Given the description of an element on the screen output the (x, y) to click on. 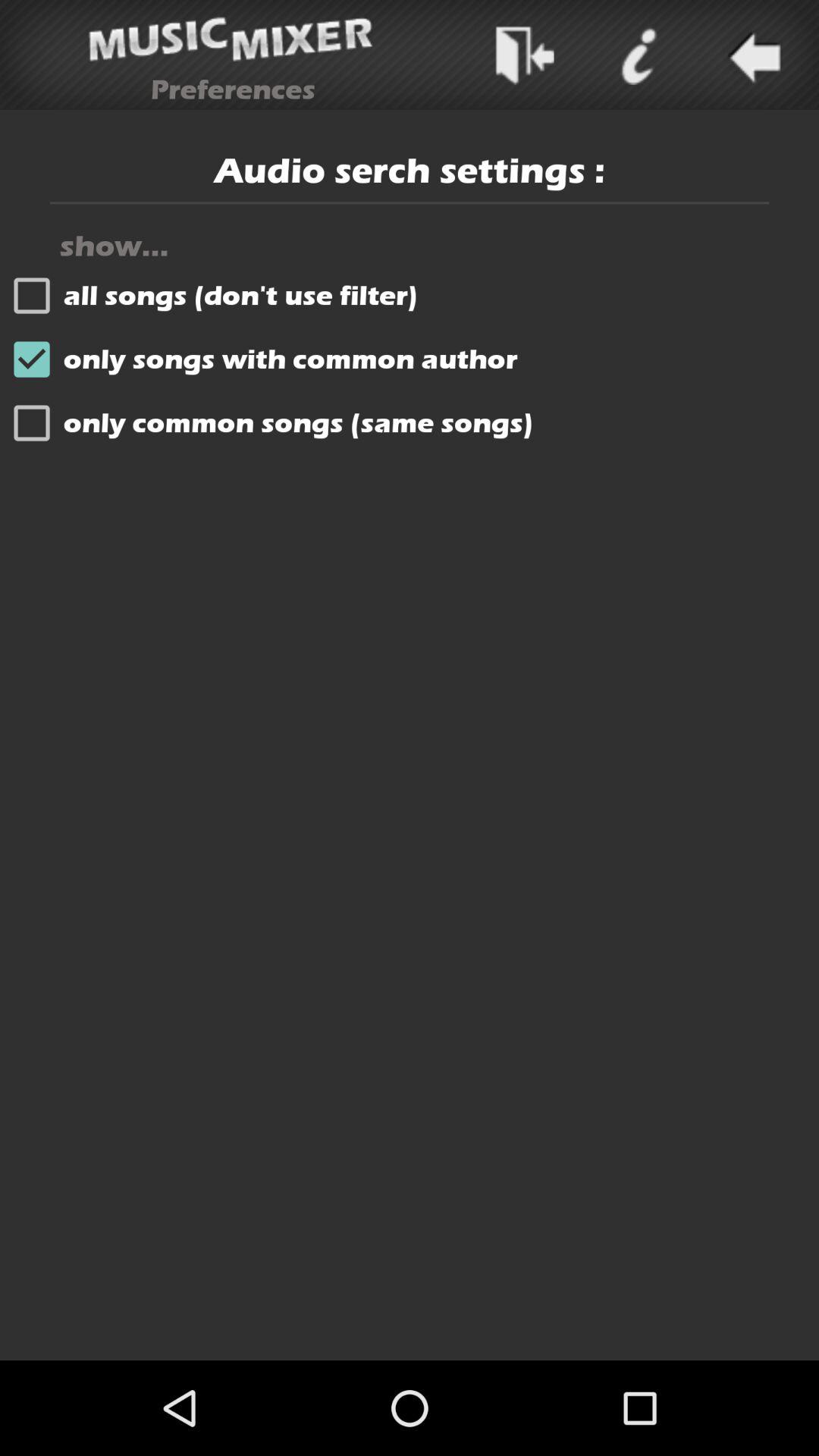
like icon (638, 54)
